Given the description of an element on the screen output the (x, y) to click on. 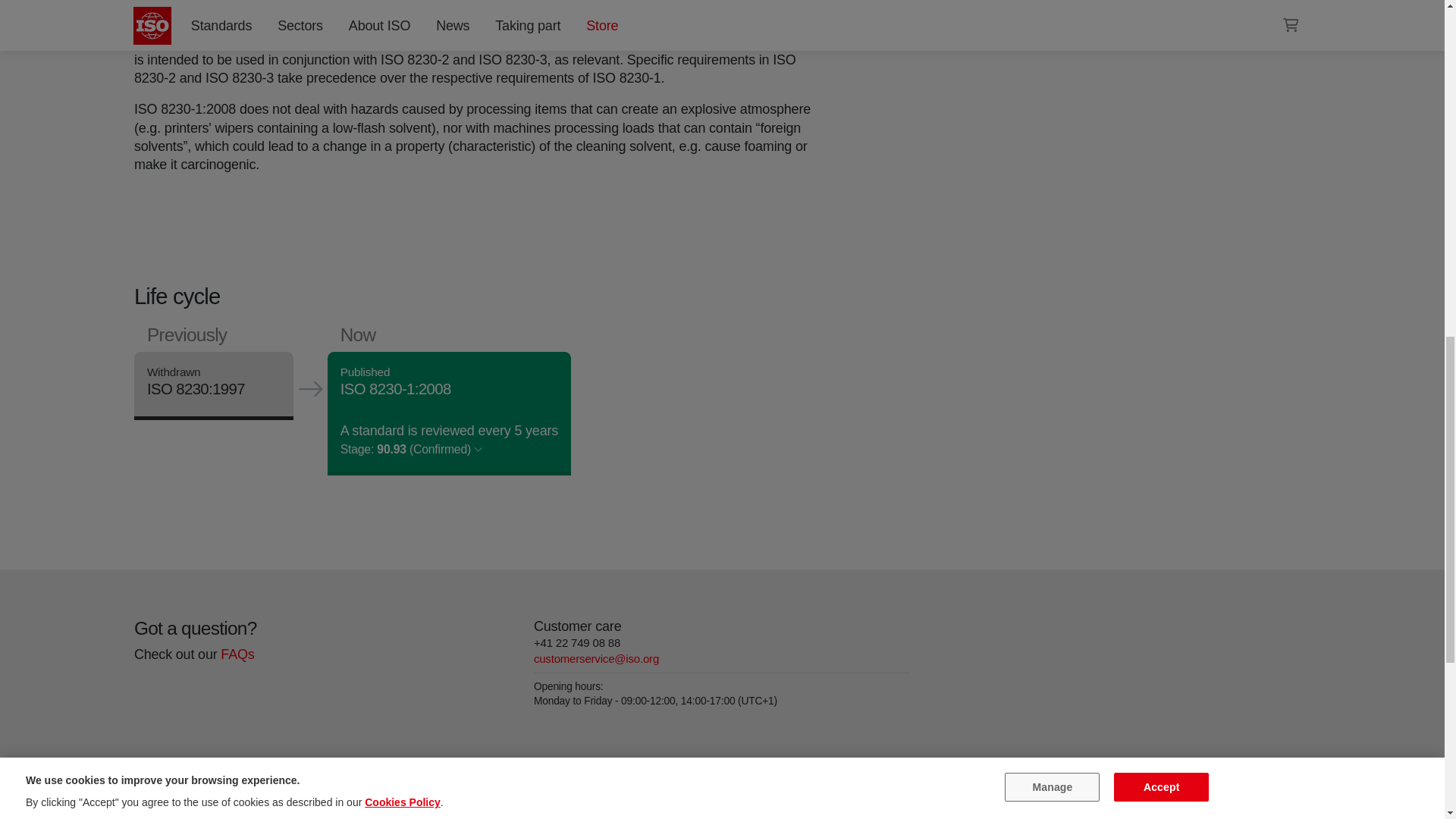
RSS (956, 6)
